Given the description of an element on the screen output the (x, y) to click on. 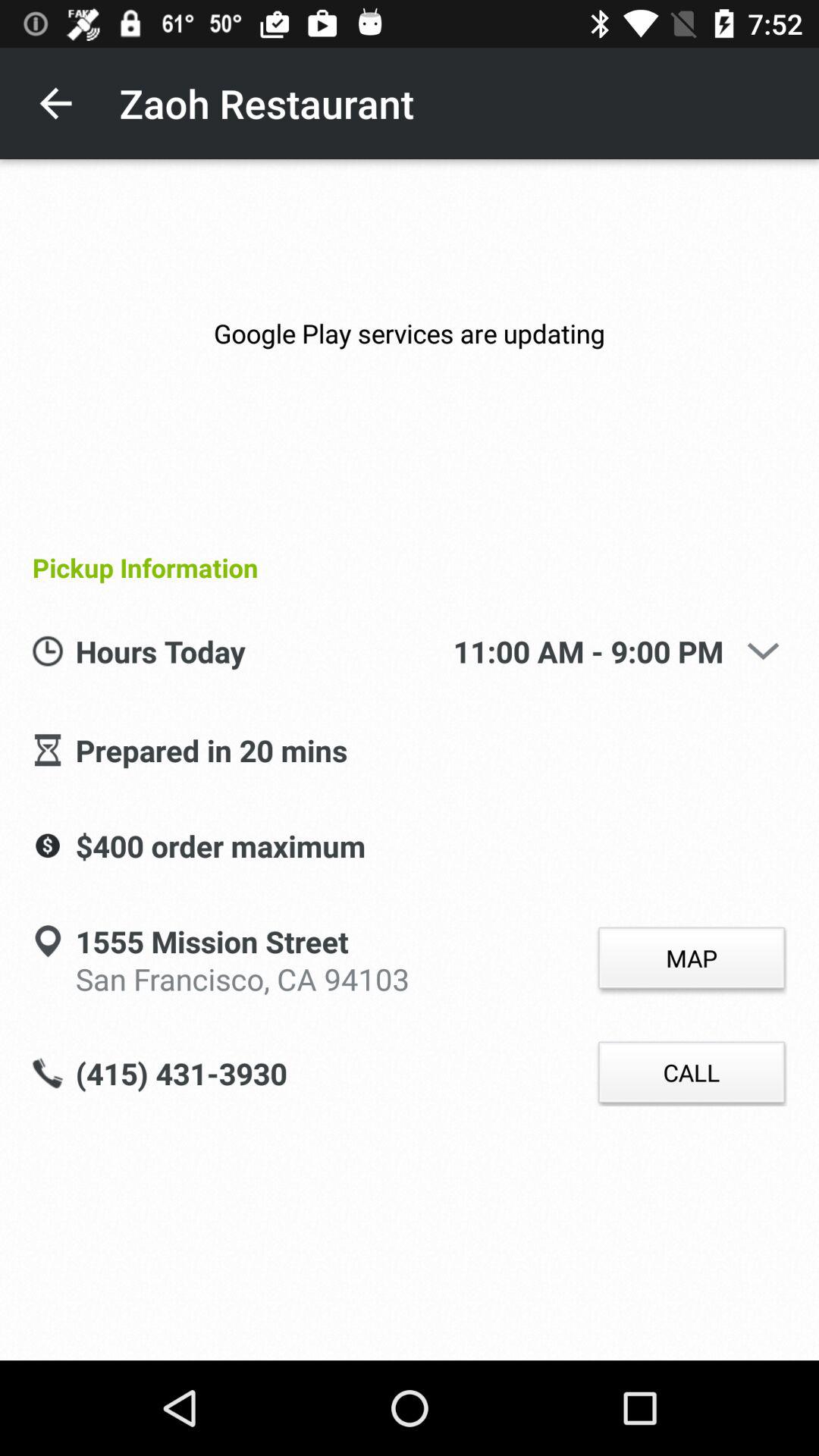
choose the item below pickup information item (763, 651)
